Given the description of an element on the screen output the (x, y) to click on. 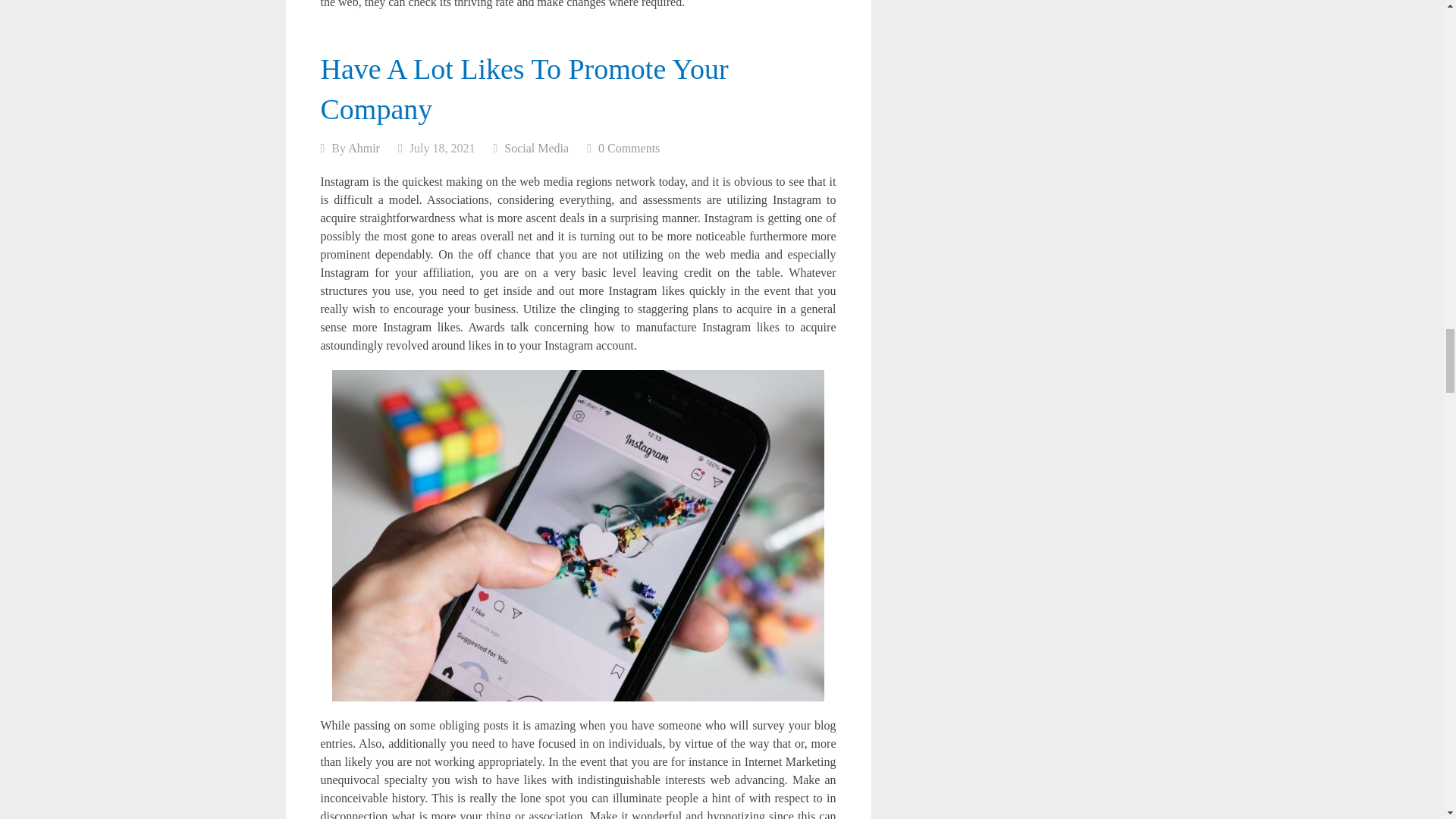
Have A Lot Likes To Promote Your Company (524, 89)
Social Media (536, 147)
Posts by Ahmir (363, 147)
Ahmir (363, 147)
Have A Lot Likes To Promote Your Company (524, 89)
0 Comments (628, 147)
